Given the description of an element on the screen output the (x, y) to click on. 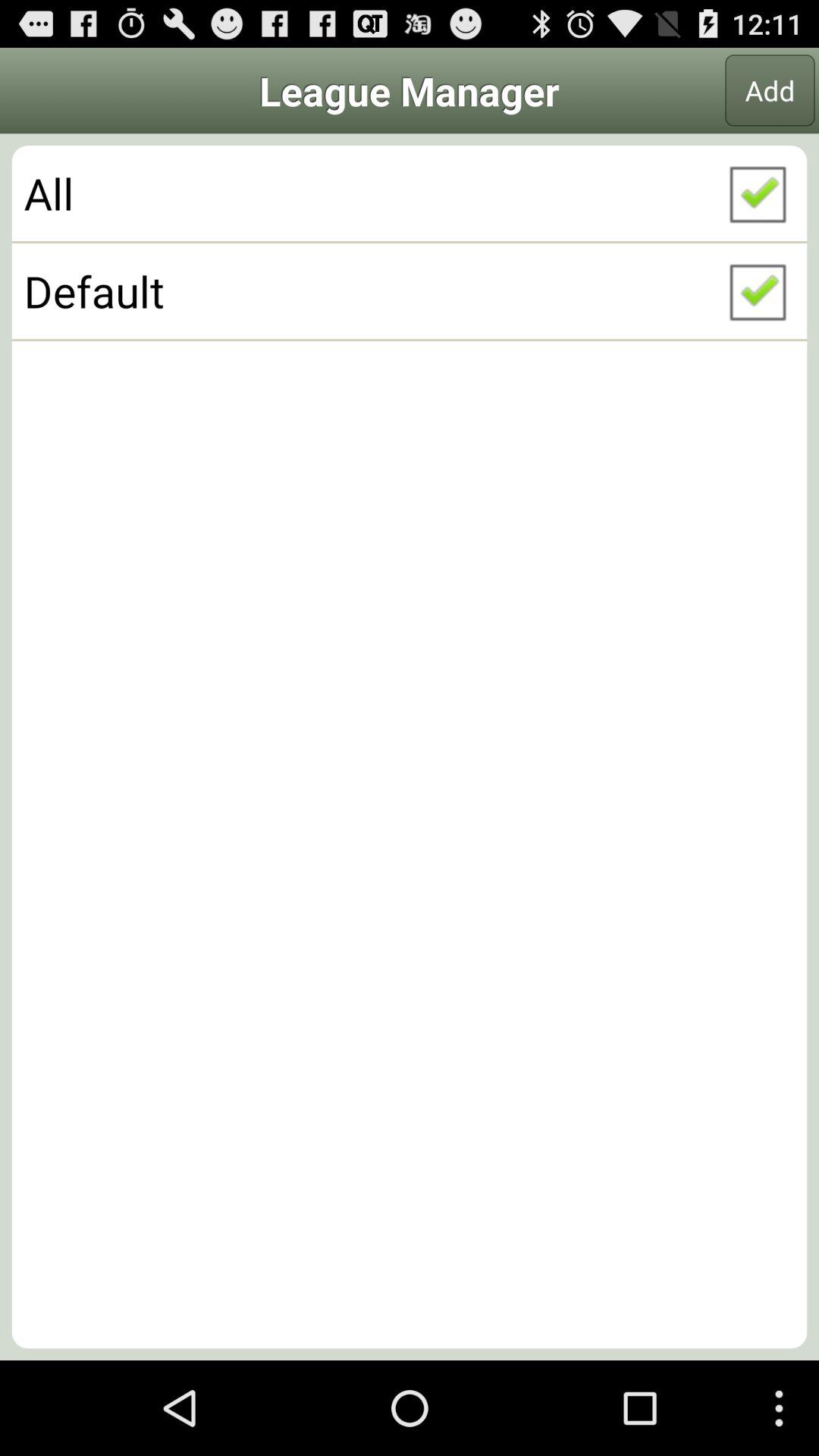
click item at the top right corner (770, 90)
